Given the description of an element on the screen output the (x, y) to click on. 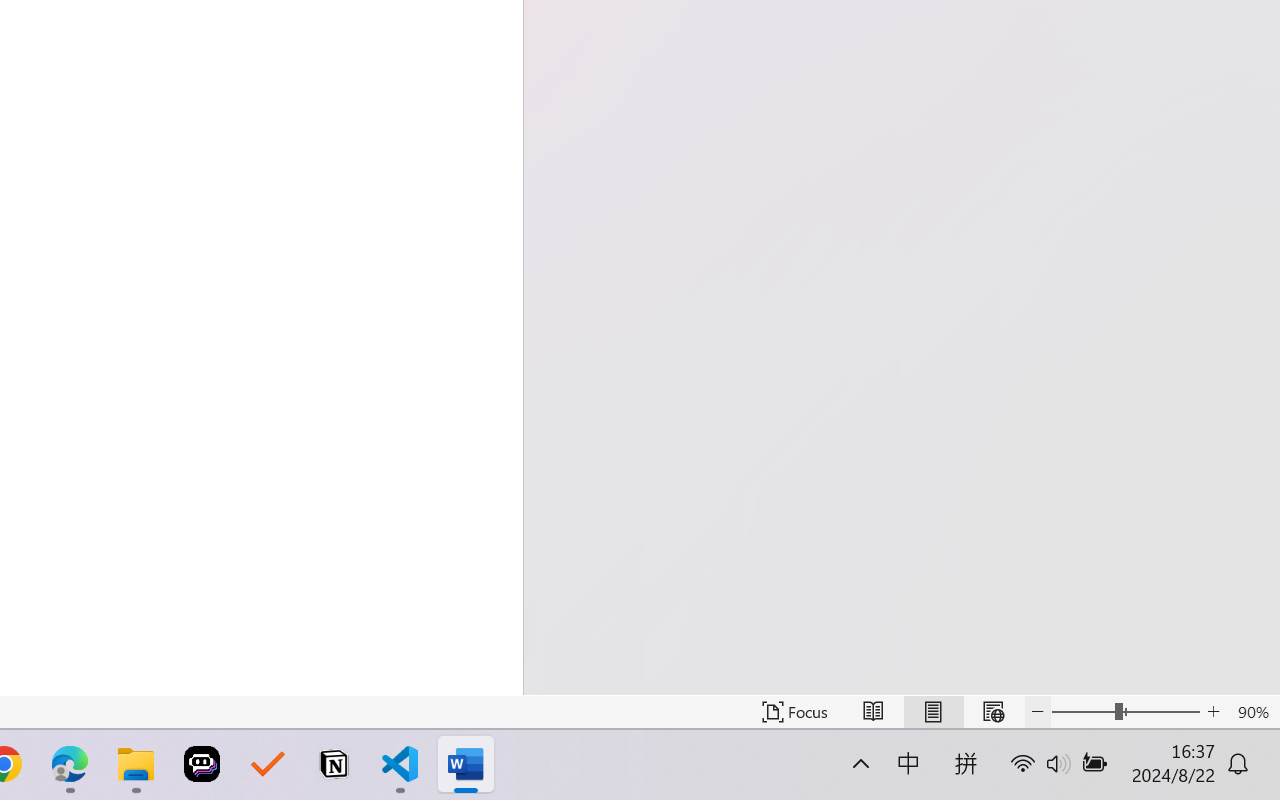
Zoom 90% (1253, 712)
